Given the description of an element on the screen output the (x, y) to click on. 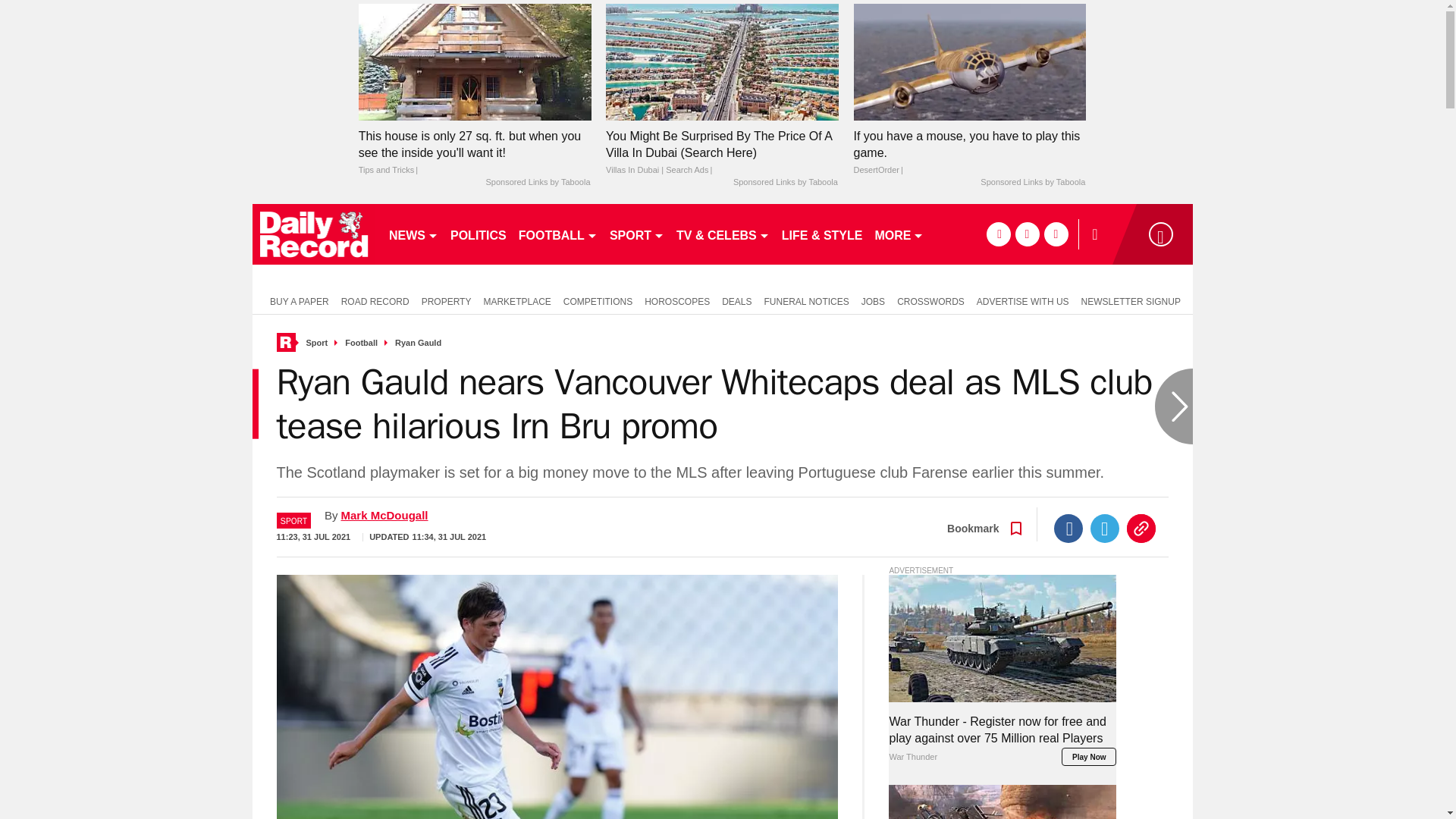
twitter (1026, 233)
facebook (997, 233)
FOOTBALL (558, 233)
Sponsored Links by Taboola (536, 182)
POLITICS (478, 233)
NEWS (413, 233)
dailyrecord (313, 233)
Sponsored Links by Taboola (1031, 182)
Twitter (1104, 528)
Sponsored Links by Taboola (785, 182)
Facebook (1068, 528)
